Given the description of an element on the screen output the (x, y) to click on. 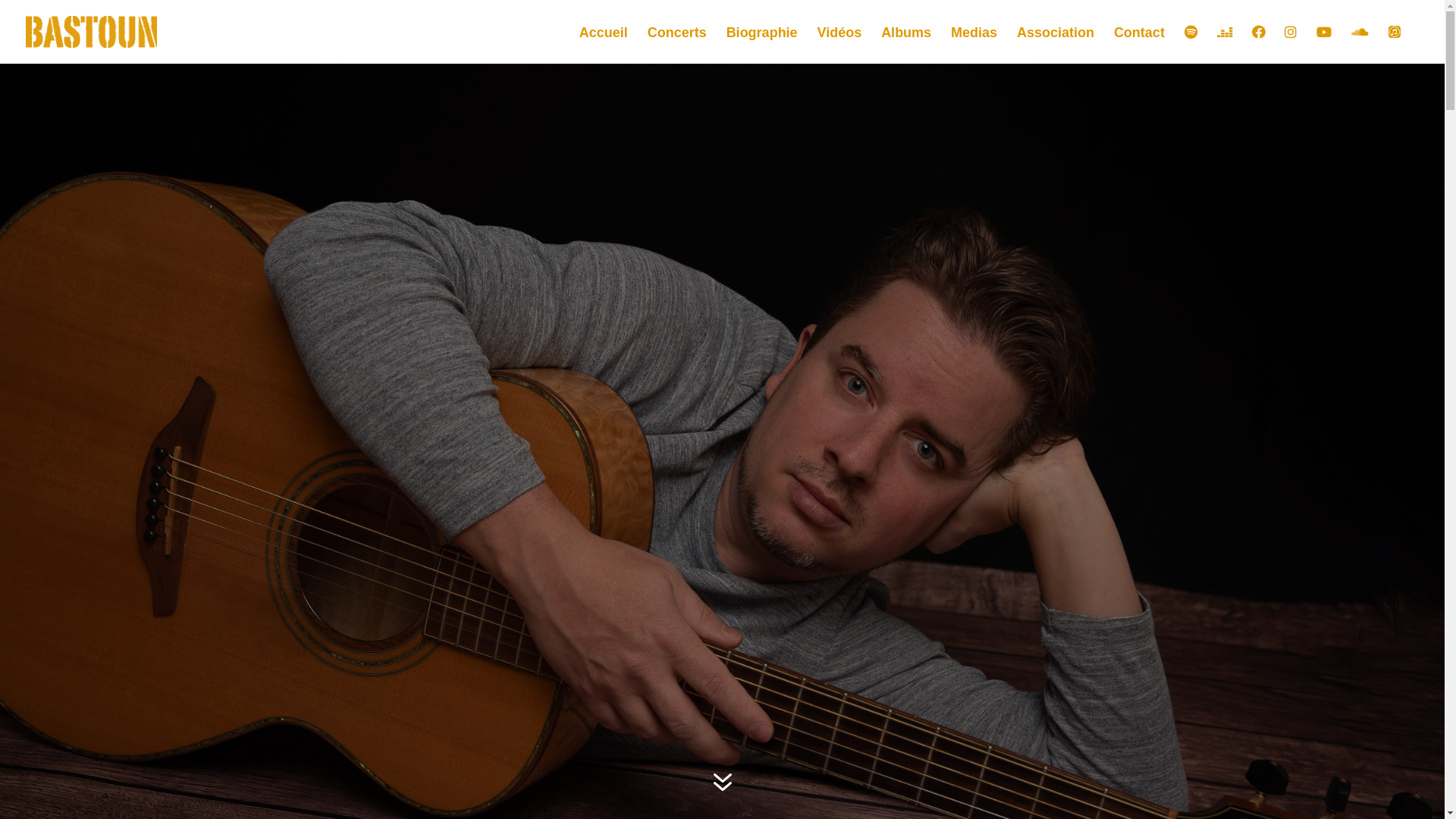
Medias Element type: text (973, 44)
Accueil Element type: text (603, 44)
Albums Element type: text (906, 44)
Biographie Element type: text (761, 44)
7 Element type: text (721, 782)
Association Element type: text (1055, 44)
Contact Element type: text (1138, 44)
Concerts Element type: text (676, 44)
